Given the description of an element on the screen output the (x, y) to click on. 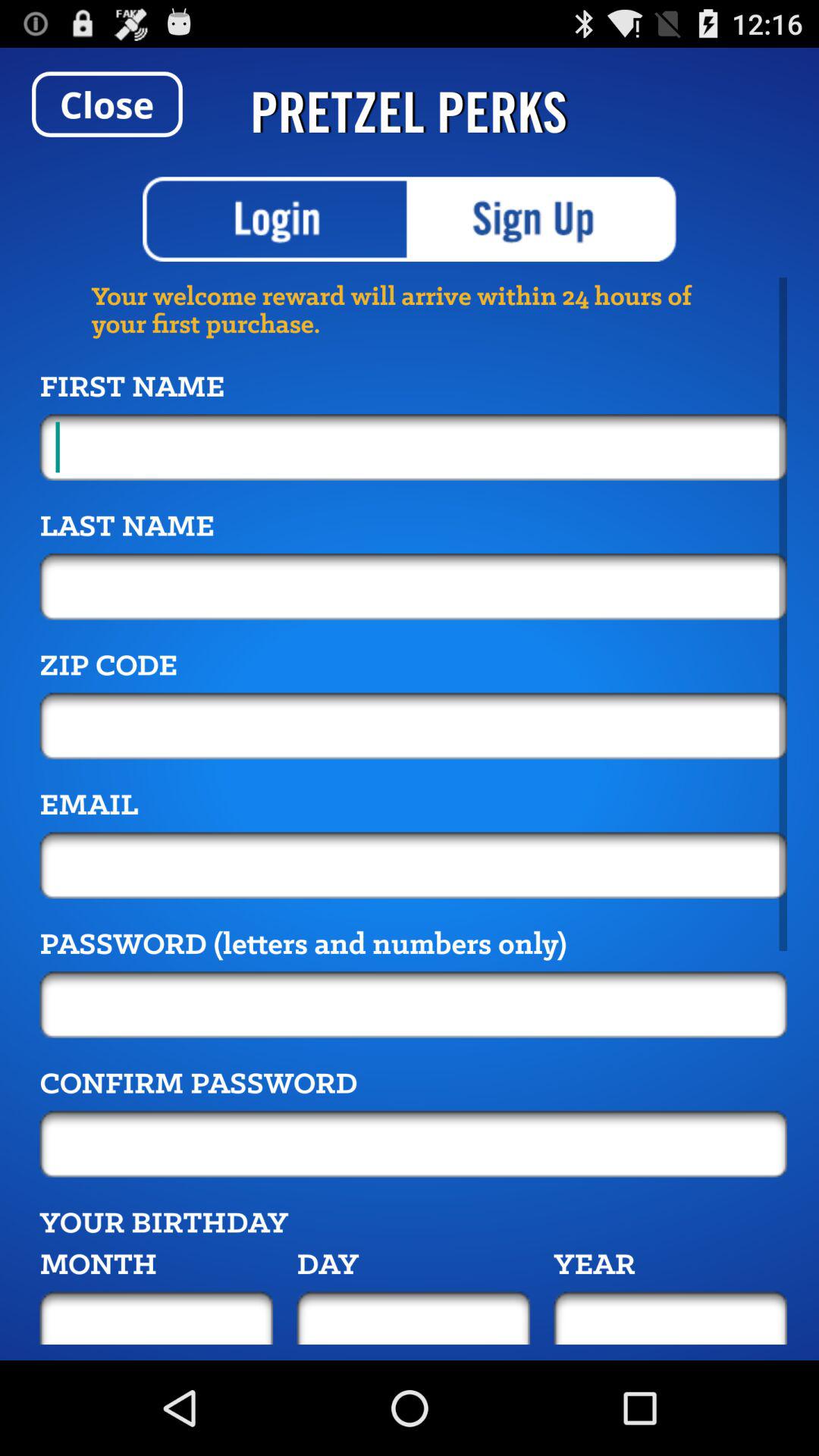
day of the birth (413, 1317)
